Given the description of an element on the screen output the (x, y) to click on. 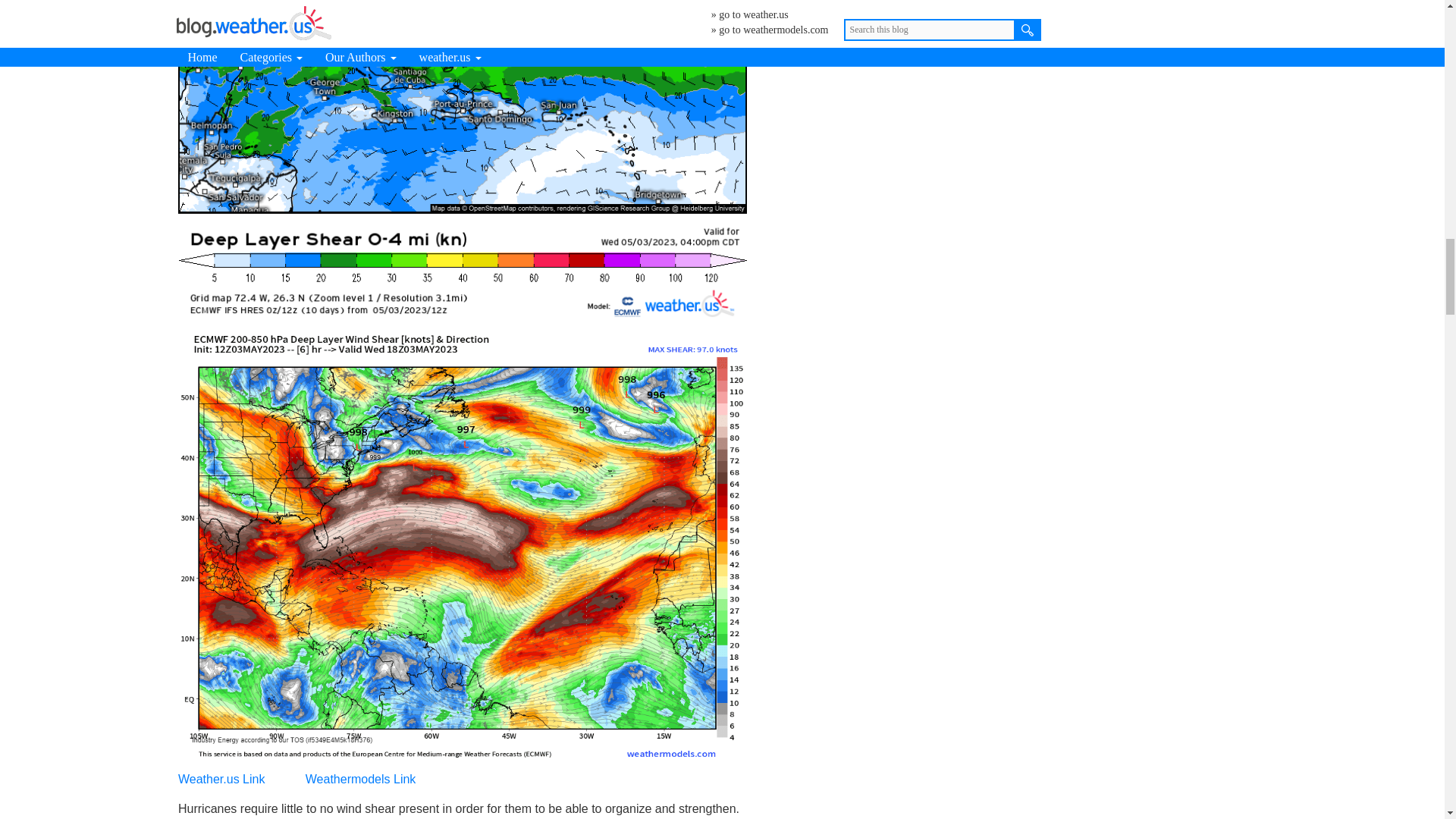
Weather.us Link (220, 779)
Weathermodels Link (360, 779)
